Given the description of an element on the screen output the (x, y) to click on. 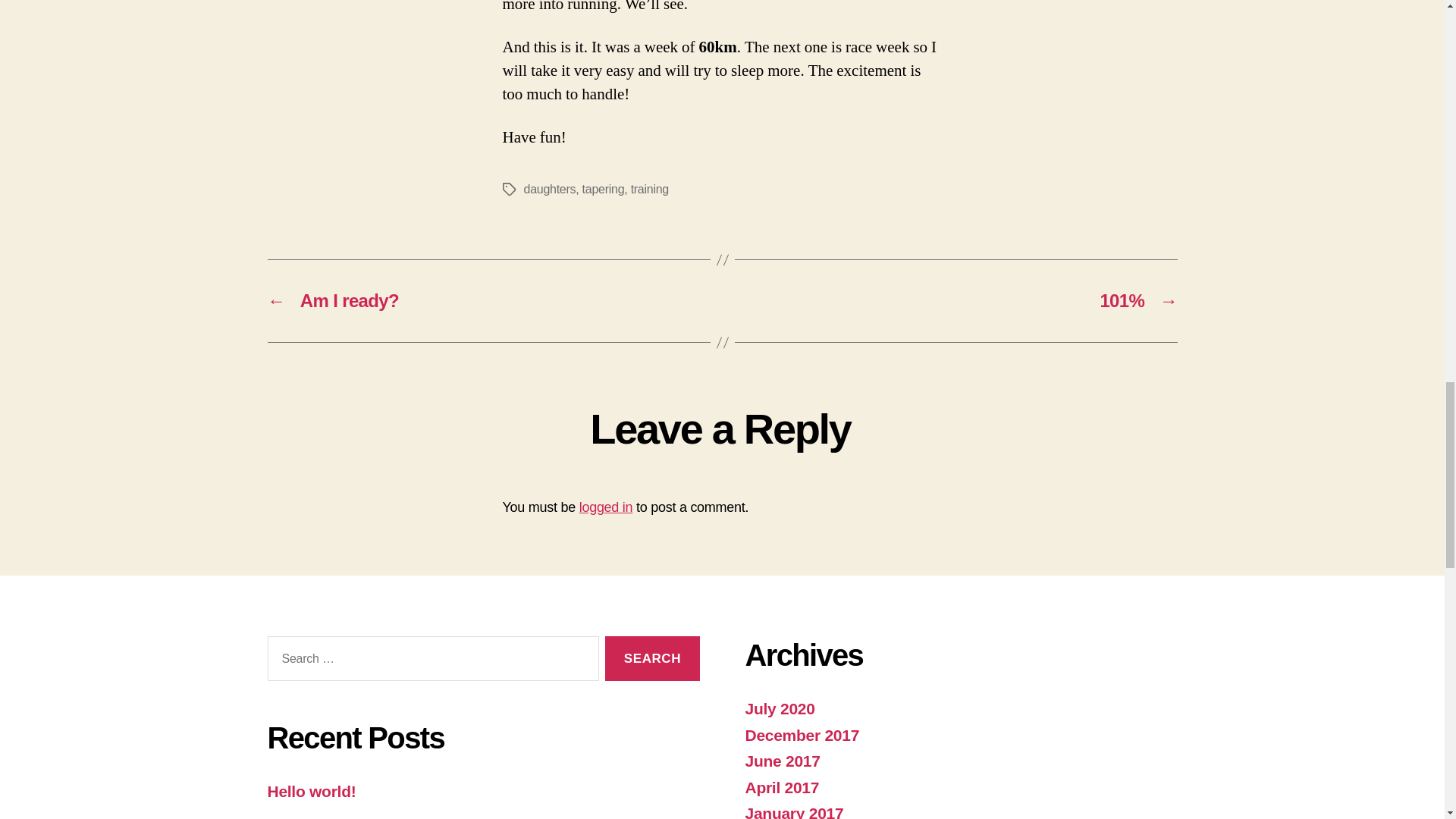
Search (651, 658)
daughters (548, 188)
Search (651, 658)
training (649, 188)
tapering (603, 188)
Hello world! (310, 791)
Search (651, 658)
logged in (606, 507)
